Given the description of an element on the screen output the (x, y) to click on. 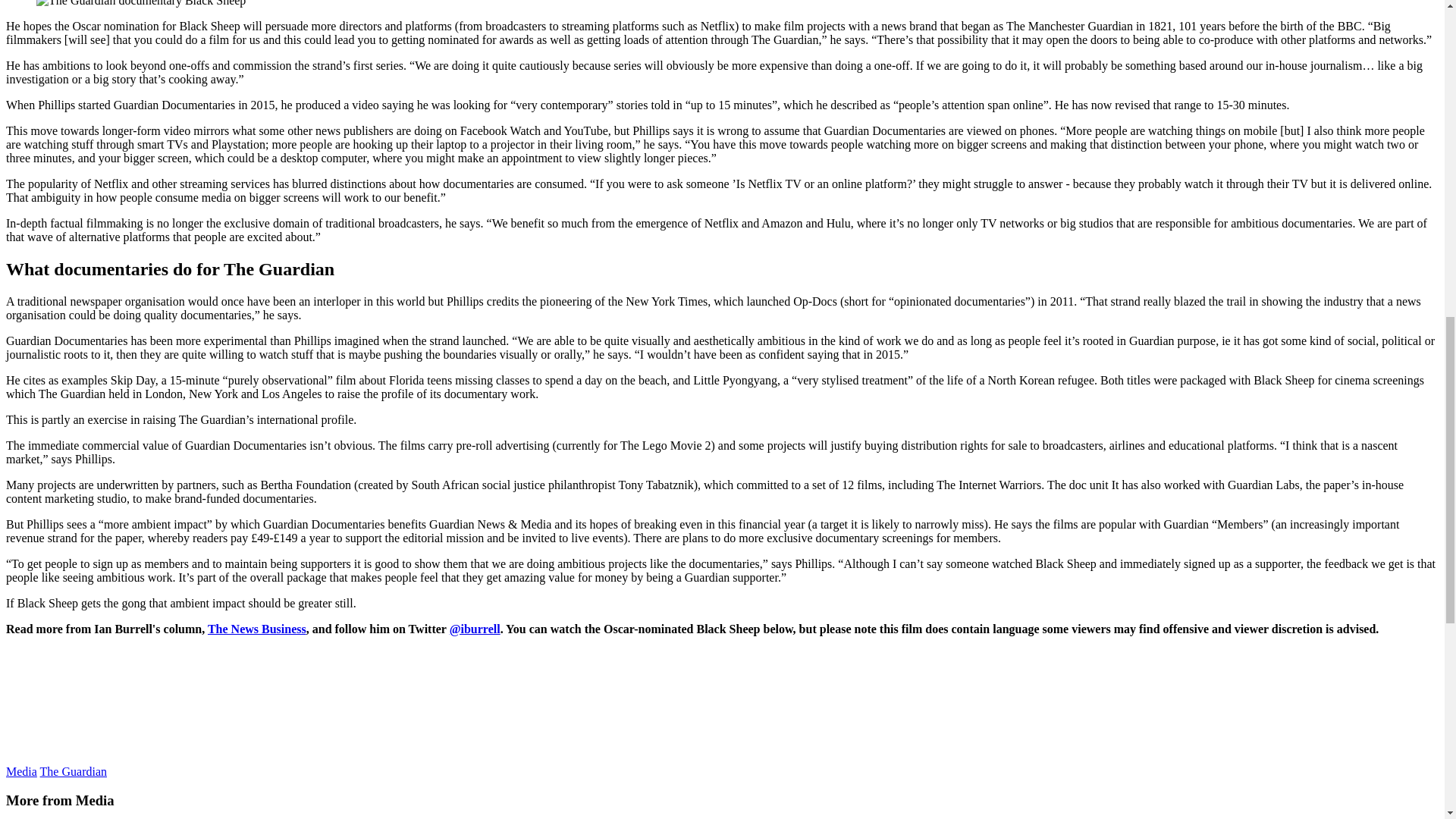
The Guardian documentary Black Sheep (141, 3)
The News Business (256, 628)
Media (21, 771)
The Guardian (73, 771)
